Given the description of an element on the screen output the (x, y) to click on. 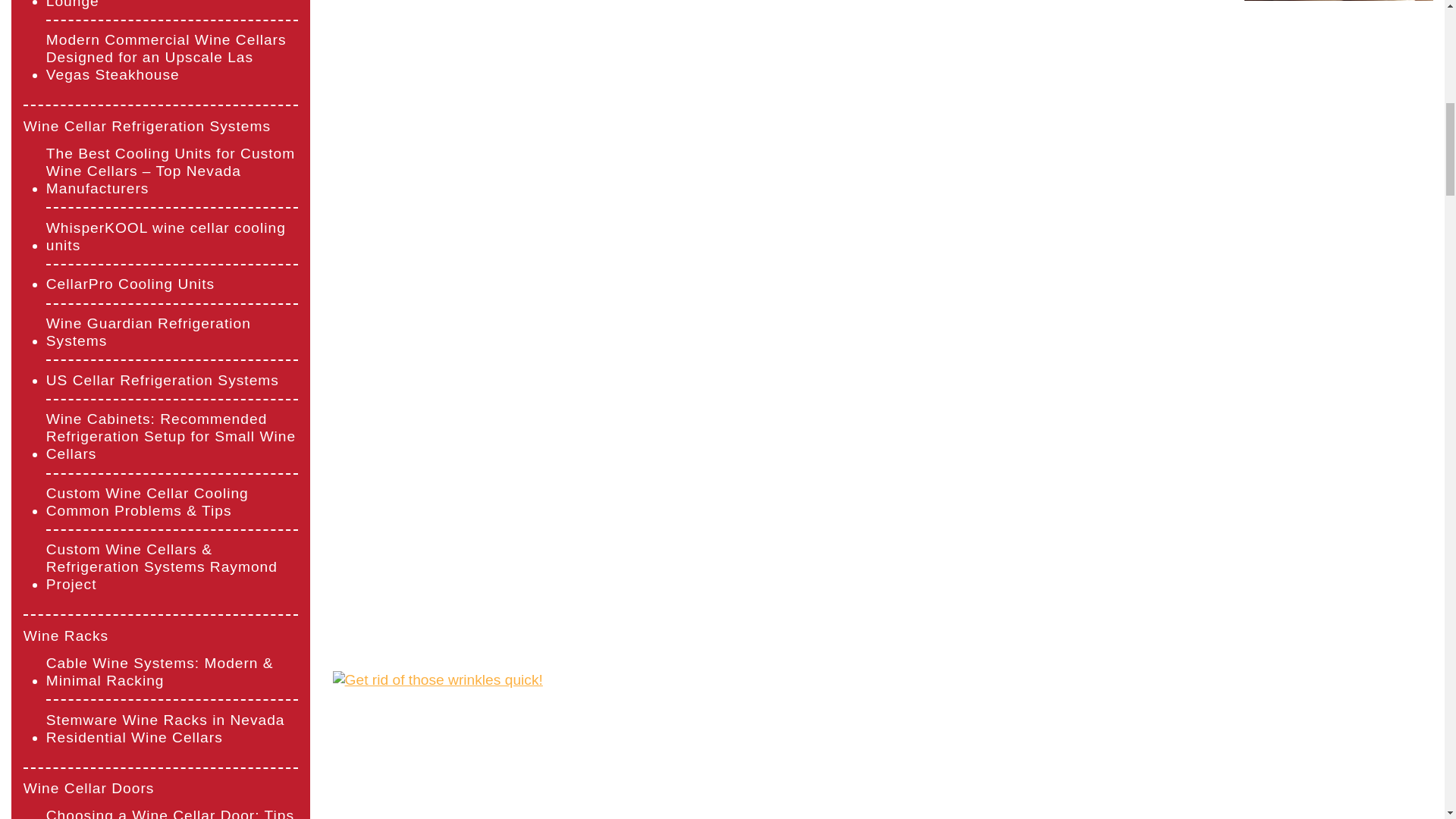
Wine Racks (65, 635)
Stemware Wine Racks in Nevada Residential Wine Cellars (172, 728)
Wine Cellar Doors (88, 787)
Choosing a Wine Cellar Door: Tips for Beginners (172, 812)
CellarPro Cooling Units (130, 283)
Wine Guardian Refrigeration Systems (172, 331)
WhisperKOOL wine cellar cooling units (172, 236)
Wine Cellar Refrigeration Systems (146, 126)
US Cellar Refrigeration Systems (162, 380)
